Given the description of an element on the screen output the (x, y) to click on. 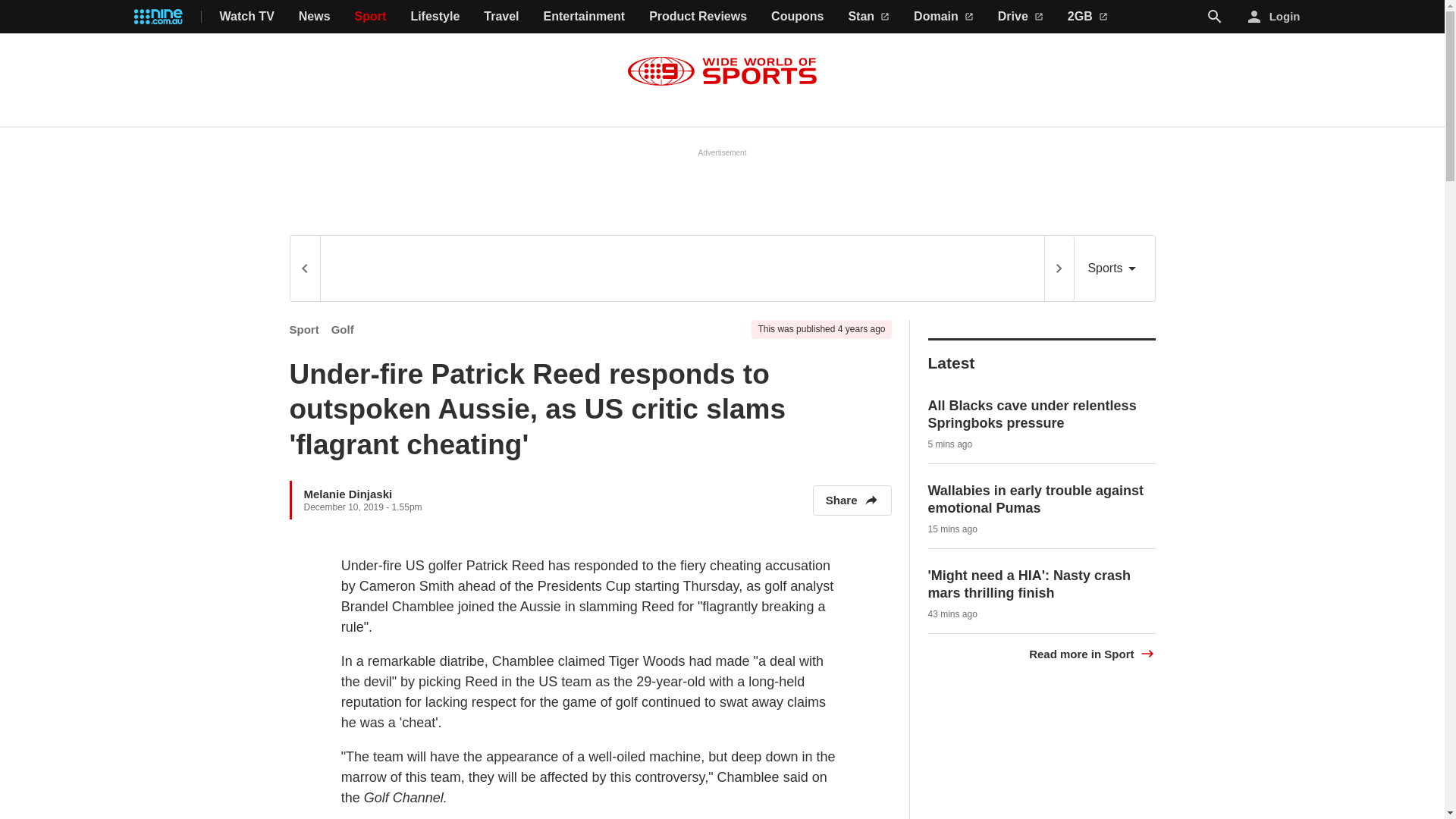
Sport (303, 328)
Lifestyle (435, 16)
Login (1273, 16)
Domain (944, 16)
Travel (500, 16)
Search (1214, 16)
Wallabies in early trouble against emotional Pumas (1035, 499)
Entertainment (584, 16)
All Blacks cave under relentless Springboks pressure (1032, 414)
Melanie Dinjaski (346, 493)
